Given the description of an element on the screen output the (x, y) to click on. 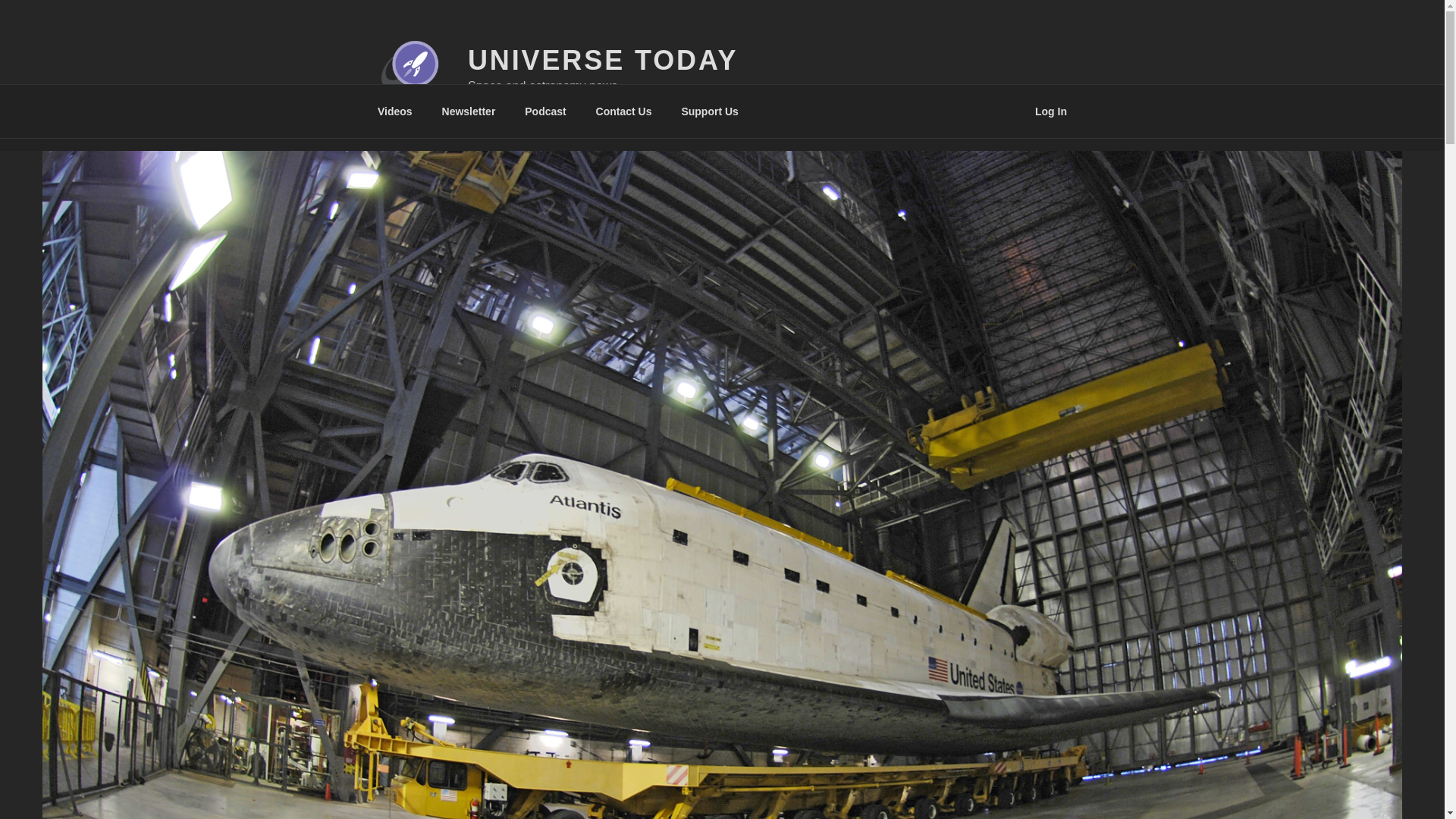
Support Us (709, 110)
UNIVERSE TODAY (602, 60)
Log In (1051, 110)
Newsletter (468, 110)
Videos (394, 110)
Podcast (545, 110)
Contact Us (623, 110)
